Given the description of an element on the screen output the (x, y) to click on. 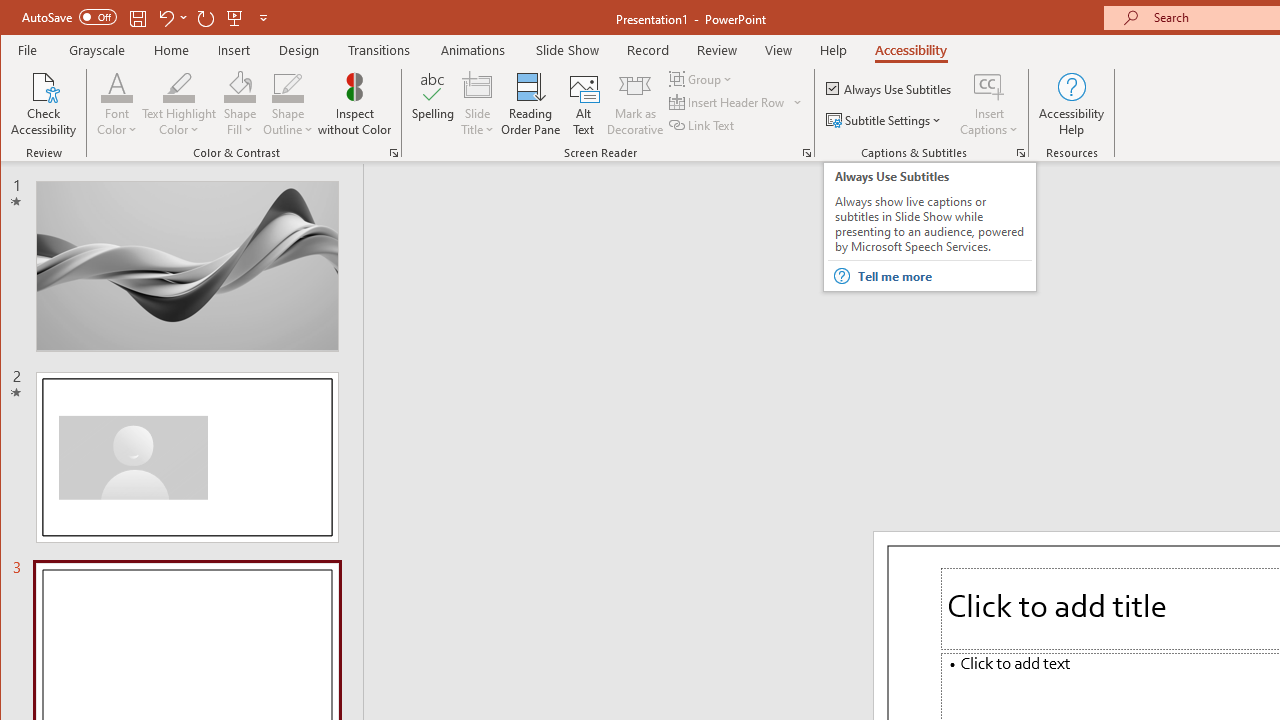
Color & Contrast (393, 152)
Mark as Decorative (635, 104)
Always Use Subtitles (890, 88)
Insert Captions (989, 104)
Screen Reader (806, 152)
